Given the description of an element on the screen output the (x, y) to click on. 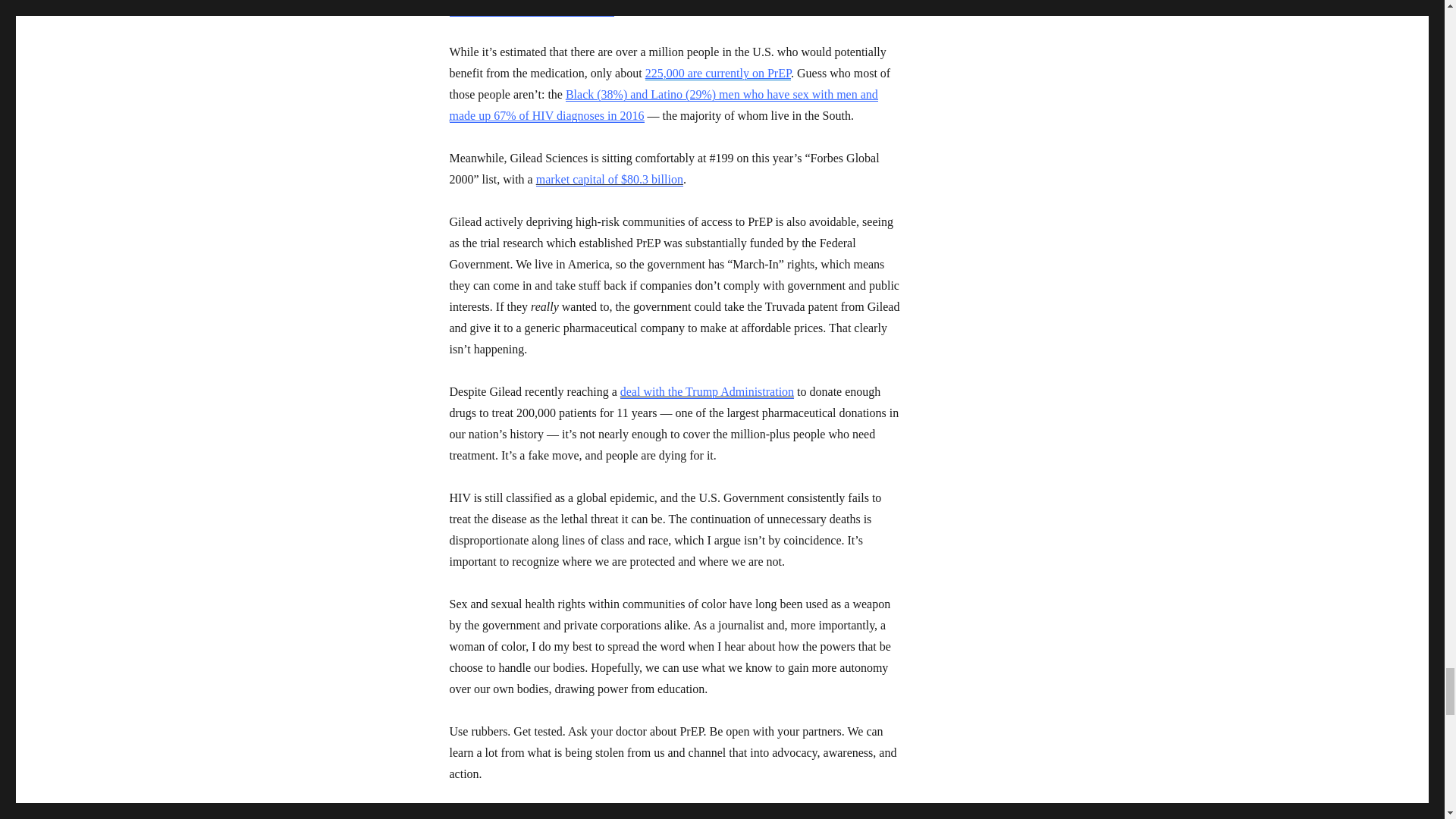
225,000 are currently on PrEP (717, 72)
deal with the Trump Administration (706, 391)
but only by one company and in 2020 (674, 7)
